Given the description of an element on the screen output the (x, y) to click on. 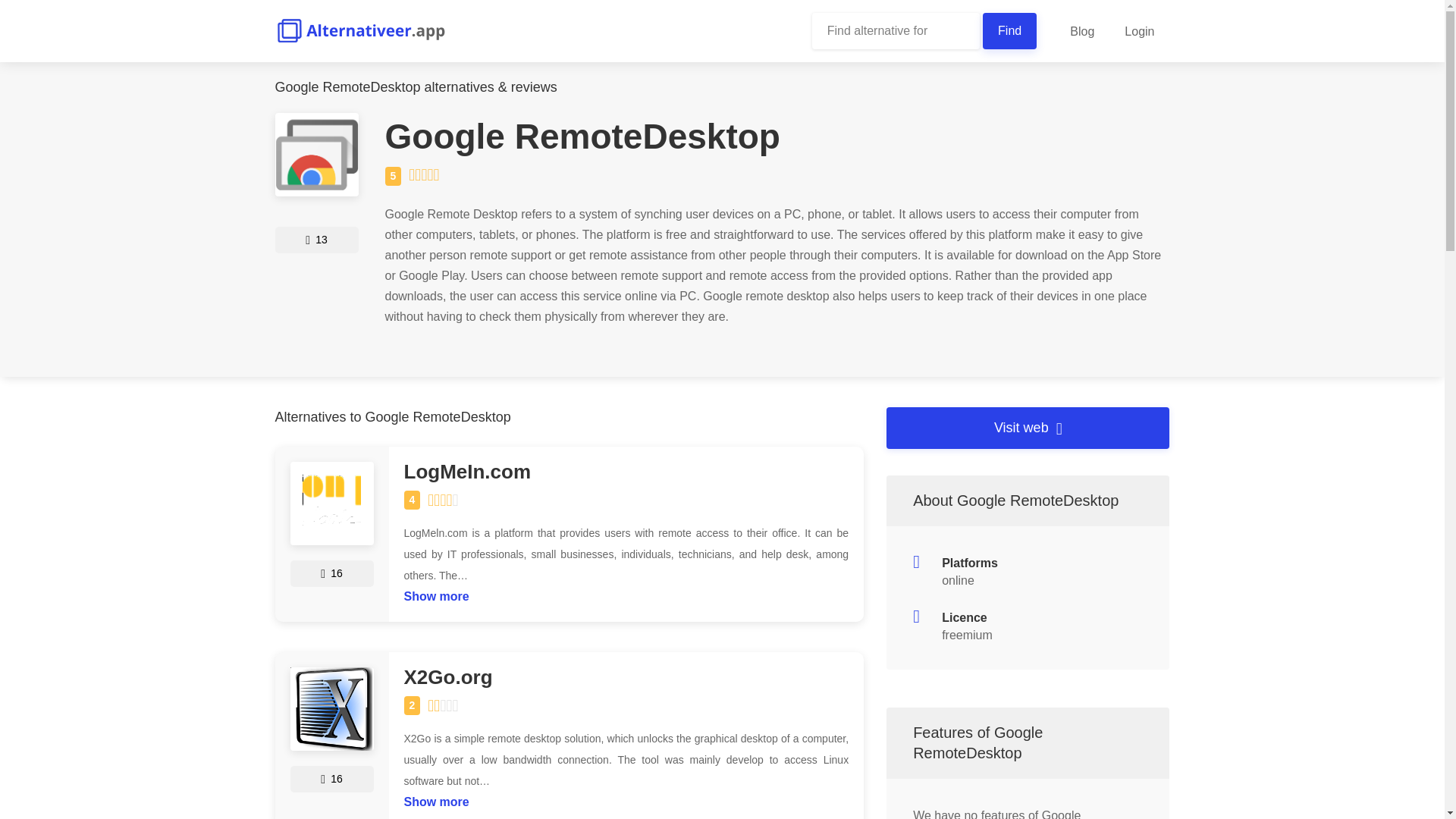
Login (1139, 31)
Show more (435, 592)
X2Go.org (625, 677)
Visit web (1027, 427)
LogMeIn.com (625, 471)
Blog (1081, 31)
Find (1009, 31)
Show more (435, 797)
Find (1009, 31)
